Given the description of an element on the screen output the (x, y) to click on. 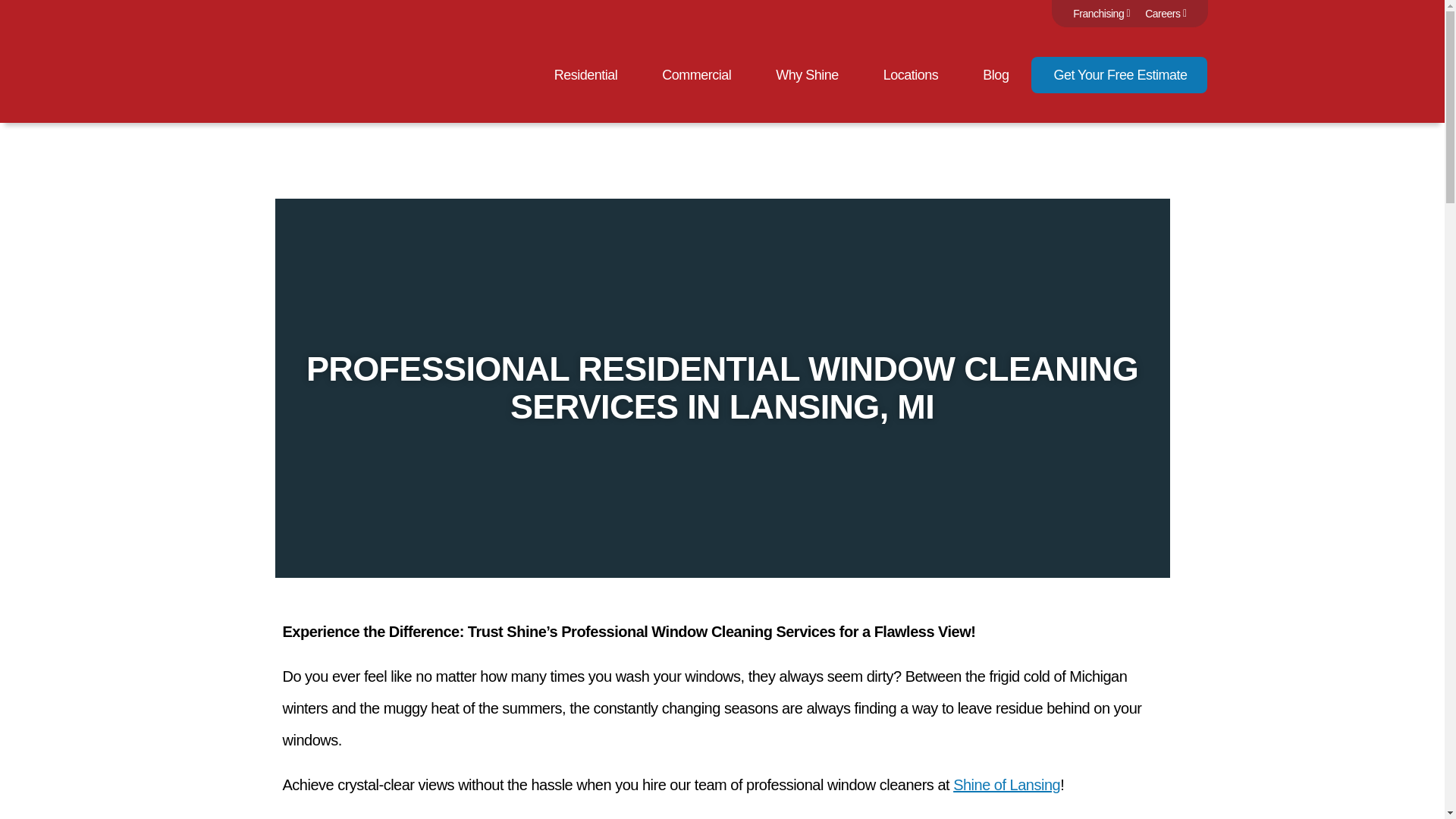
Residential (586, 74)
Franchising  (1101, 13)
Blog (995, 74)
Careers  (1165, 13)
Get Your Free Estimate (1119, 74)
Locations (911, 74)
Why Shine (807, 74)
Commercial (696, 74)
